Given the description of an element on the screen output the (x, y) to click on. 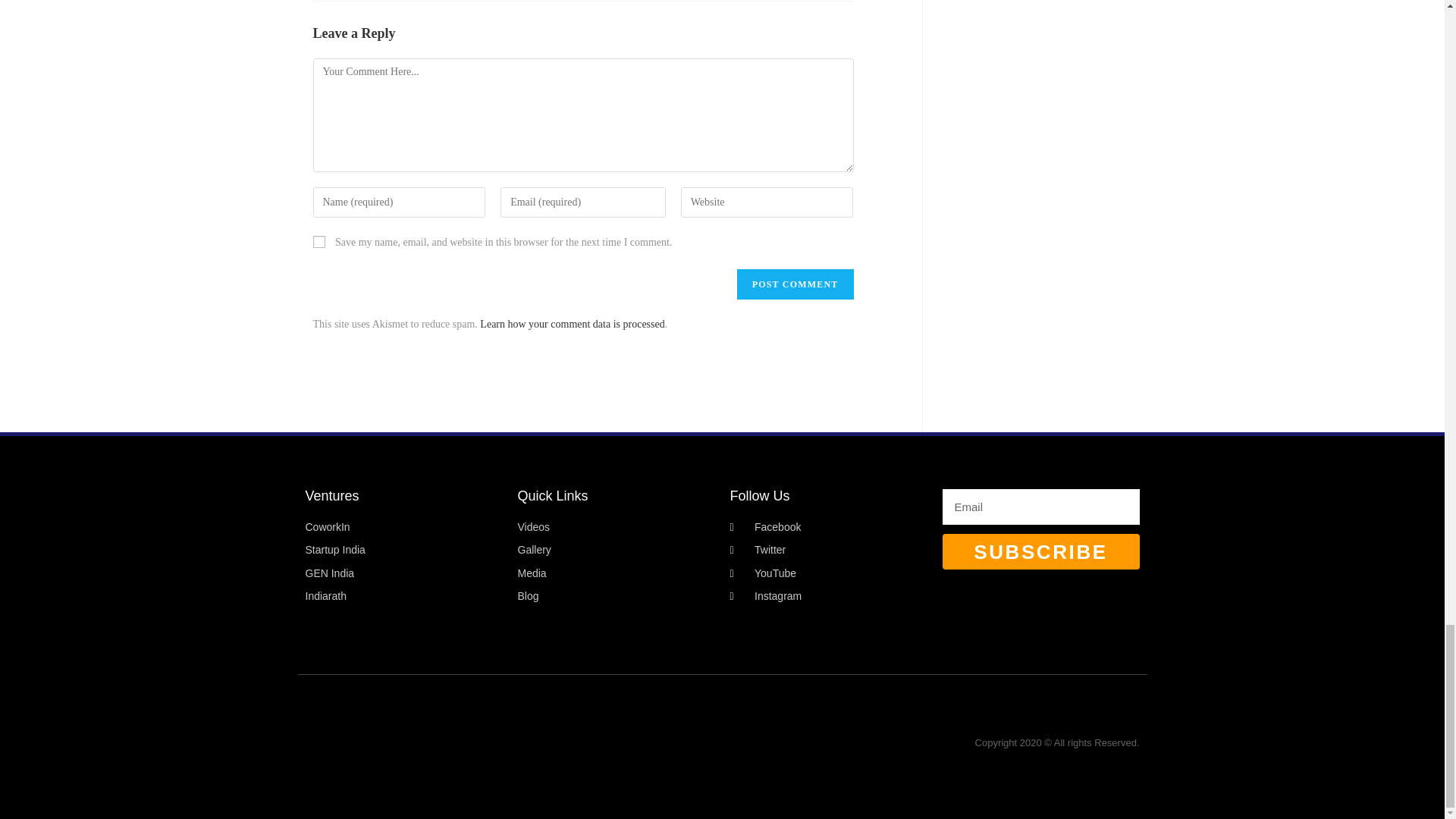
yes (318, 241)
Post Comment (794, 284)
